Given the description of an element on the screen output the (x, y) to click on. 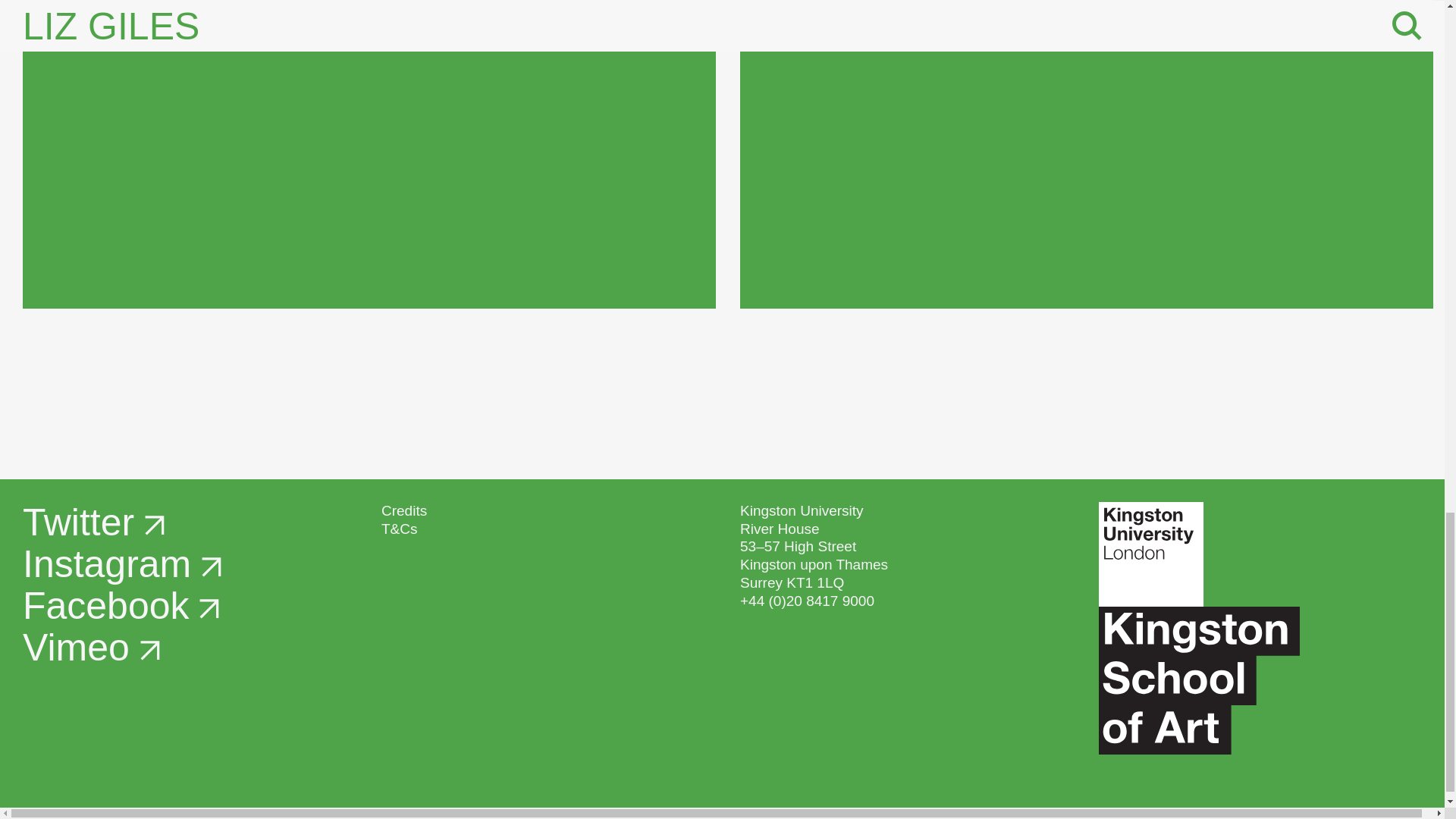
Vimeo (91, 647)
Twitter (93, 522)
Instagram (122, 563)
Facebook (121, 605)
Credits (403, 510)
